Given the description of an element on the screen output the (x, y) to click on. 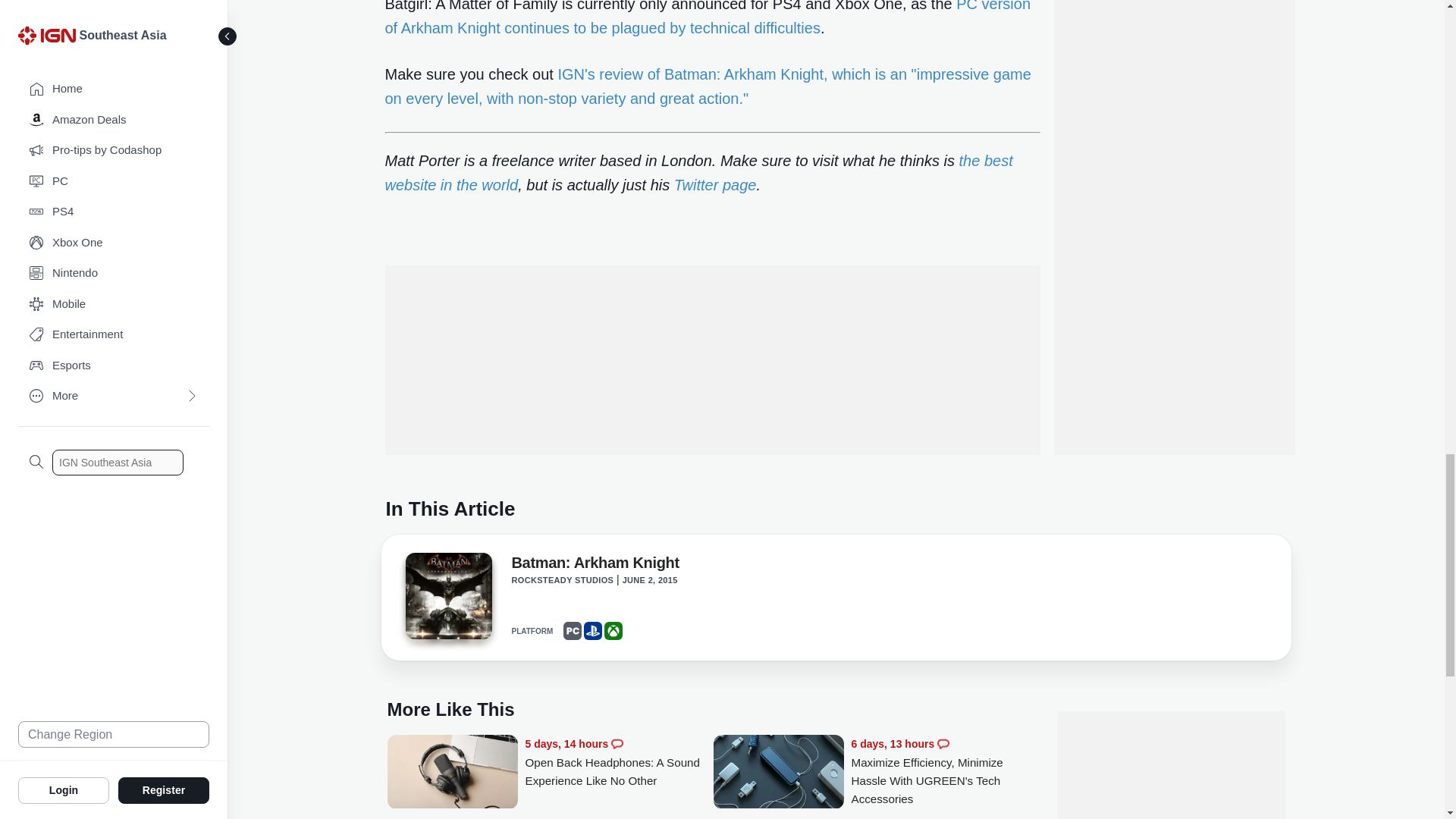
Batman: Arkham Knight (448, 595)
PC (571, 630)
Batman: Arkham Knight (594, 565)
XBOXONE (613, 630)
Open Back Headphones: A Sound Experience Like No Other (451, 772)
Batman: Arkham Knight (448, 600)
PS4 (592, 630)
Open Back Headphones: A Sound Experience Like No Other (618, 762)
